Given the description of an element on the screen output the (x, y) to click on. 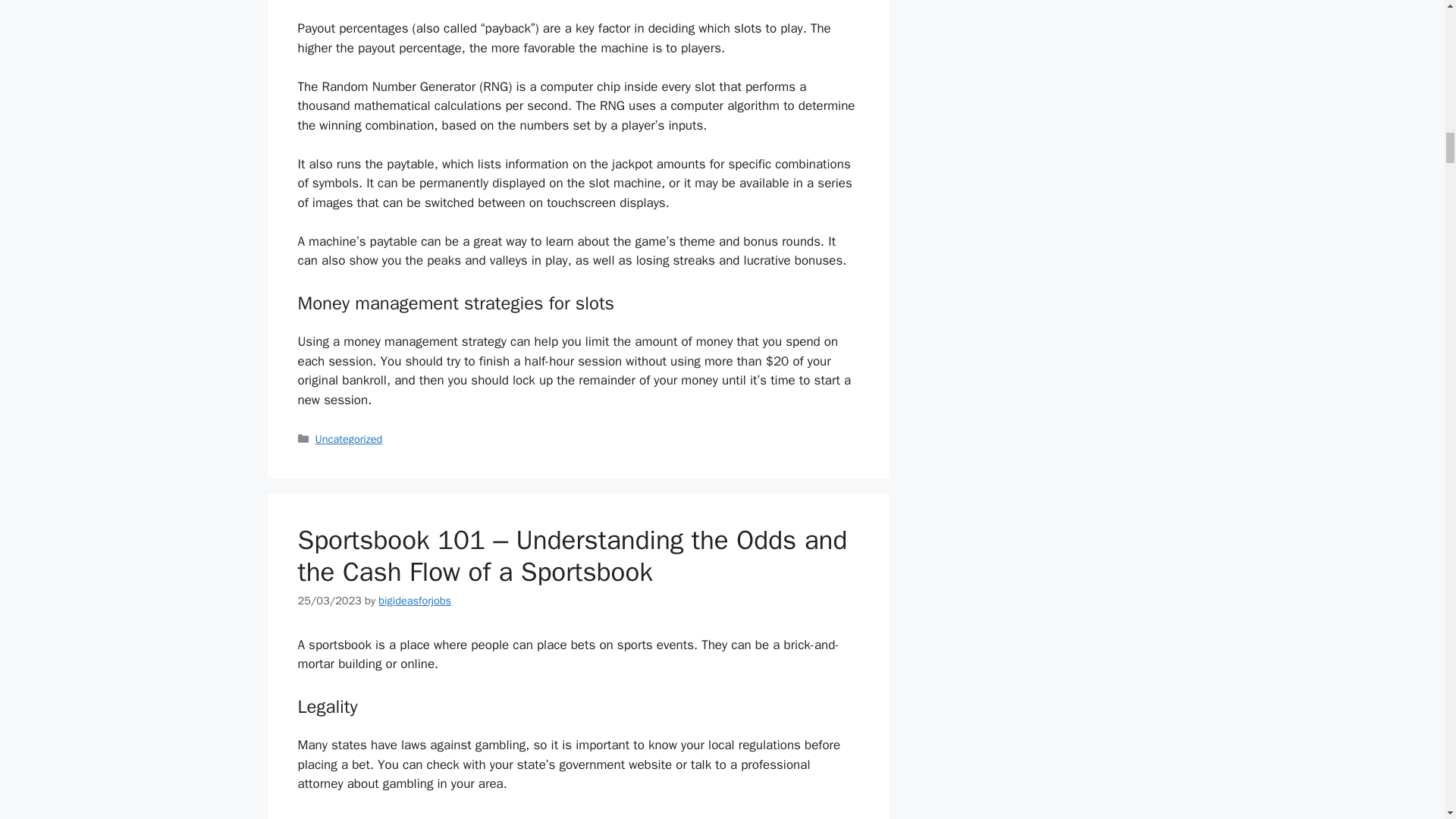
Uncategorized (348, 438)
bigideasforjobs (414, 600)
View all posts by bigideasforjobs (414, 600)
